Given the description of an element on the screen output the (x, y) to click on. 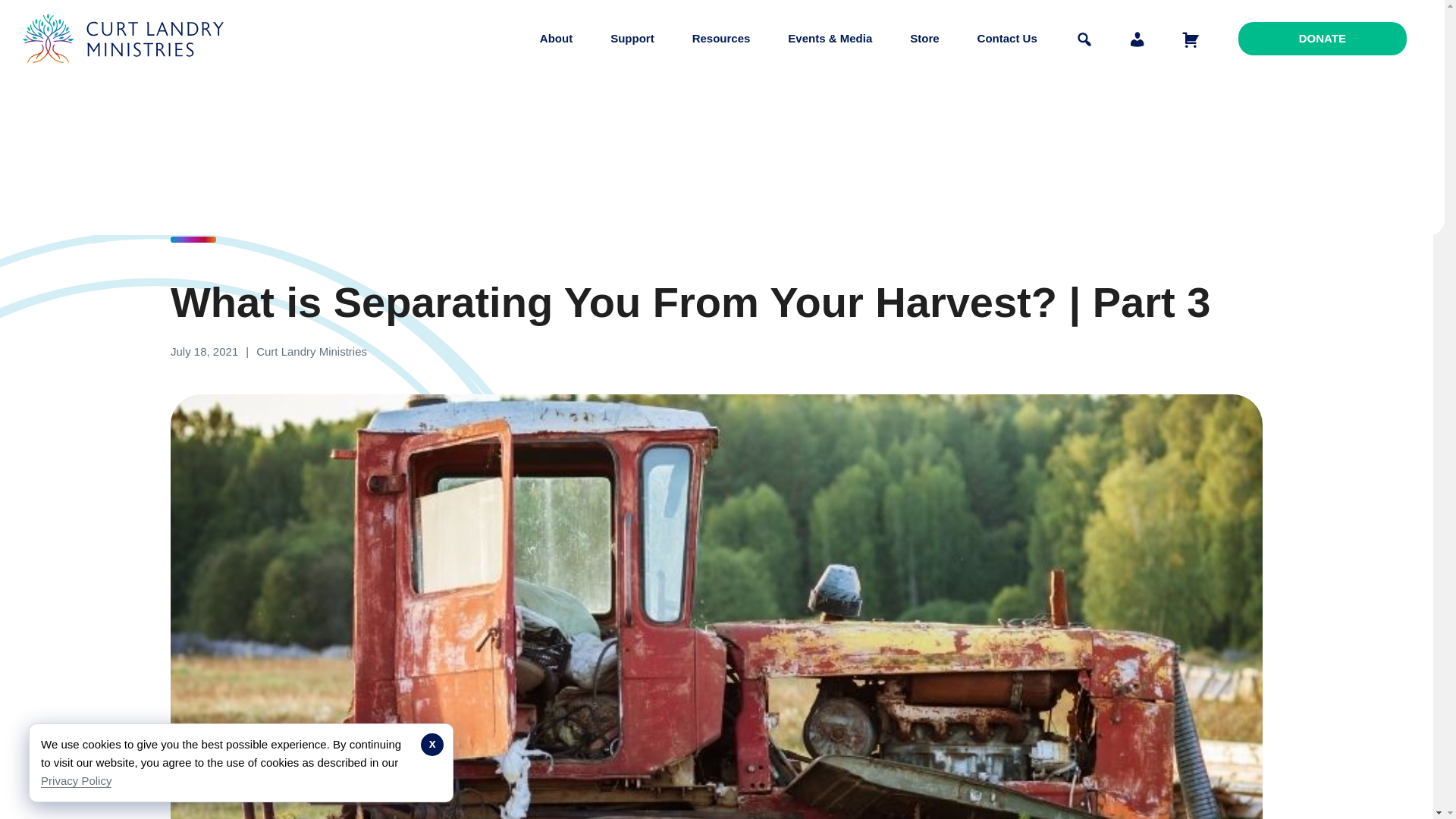
Curt Landry Ministries (127, 74)
Resources (721, 38)
Support (631, 38)
About (556, 38)
Store (924, 38)
